Given the description of an element on the screen output the (x, y) to click on. 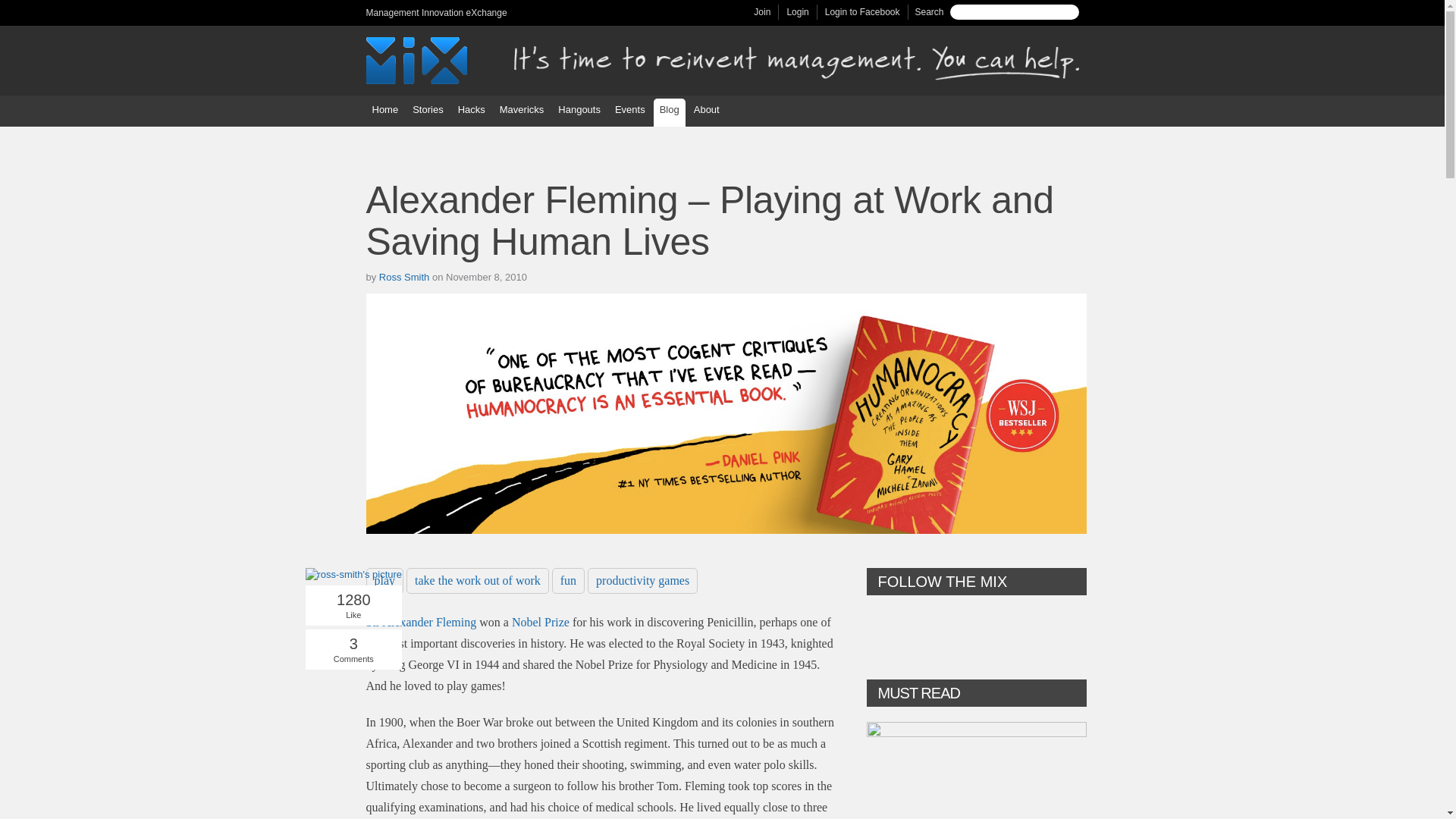
About (706, 110)
Ross Smith (403, 276)
Hangouts (579, 110)
Mavericks (521, 110)
play (384, 580)
Home (384, 110)
Search (1067, 12)
productivity games (642, 580)
Enter the terms you wish to search for. (1027, 10)
Login (797, 11)
Join (762, 11)
take the work out of work (477, 580)
Search (1067, 12)
Skip to main content (693, 1)
